Given the description of an element on the screen output the (x, y) to click on. 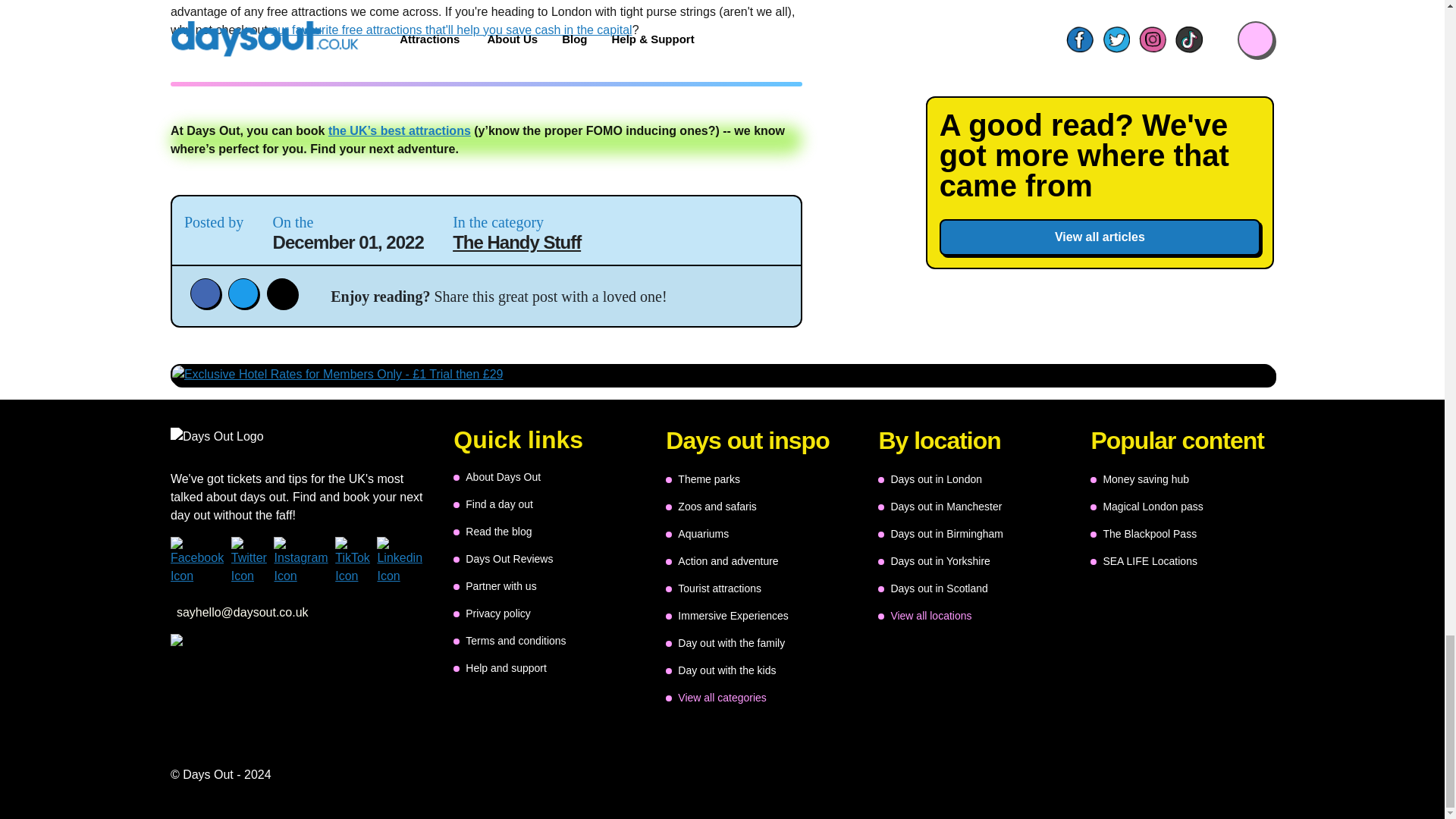
Read our reviews (502, 558)
Wanna buddy up? (493, 585)
Follow us on Twitter. (253, 561)
Start the search for your next day out. (492, 503)
Find us on Facey. (200, 561)
Learn more about Days Out (496, 476)
Read our blog. (491, 531)
Read our boring privacy policy. (491, 613)
Get all grown up with us on LinkedIn. (403, 561)
Check our terms and conditions. (509, 640)
